Given the description of an element on the screen output the (x, y) to click on. 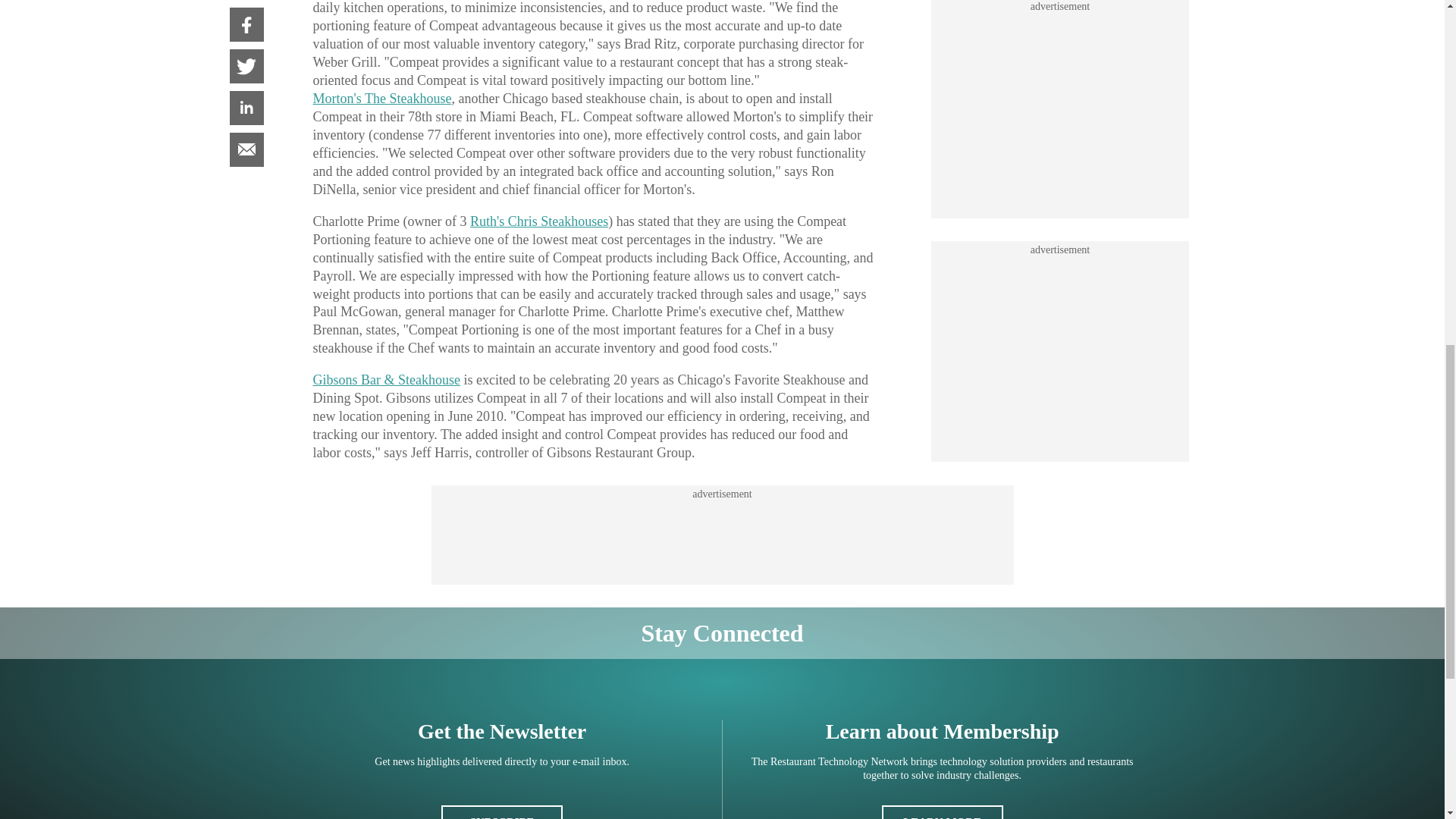
Ruth's Chris Steakhouses (539, 221)
SUBSCRIBE (501, 812)
Morton's The Steakhouse (382, 98)
3rd party ad content (721, 535)
LEARN MORE (942, 812)
